Given the description of an element on the screen output the (x, y) to click on. 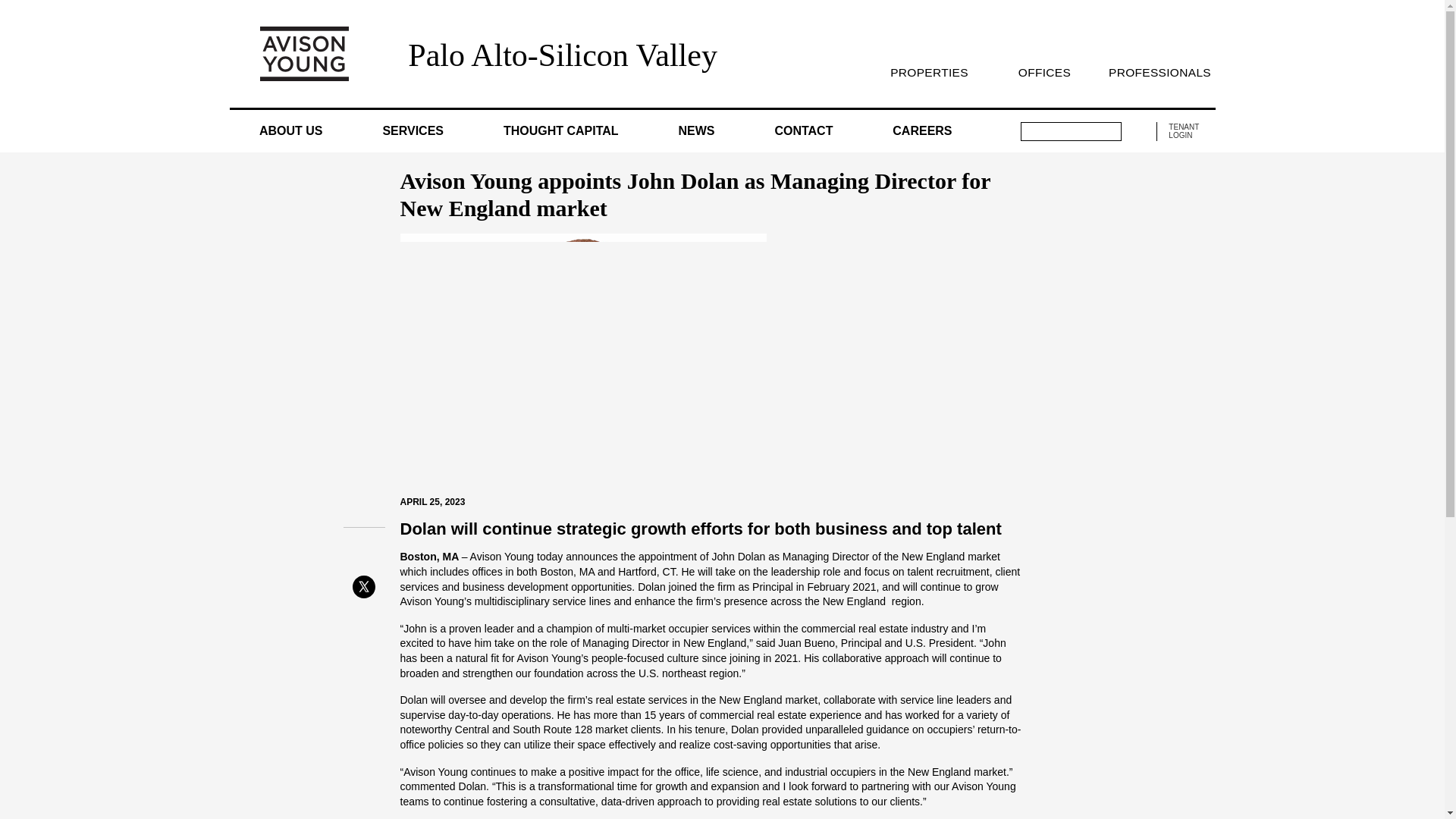
Palo Alto-Silicon Valley (562, 54)
OFFICES (1043, 72)
PROPERTIES (928, 72)
Skip to Main Content (5, 5)
